Given the description of an element on the screen output the (x, y) to click on. 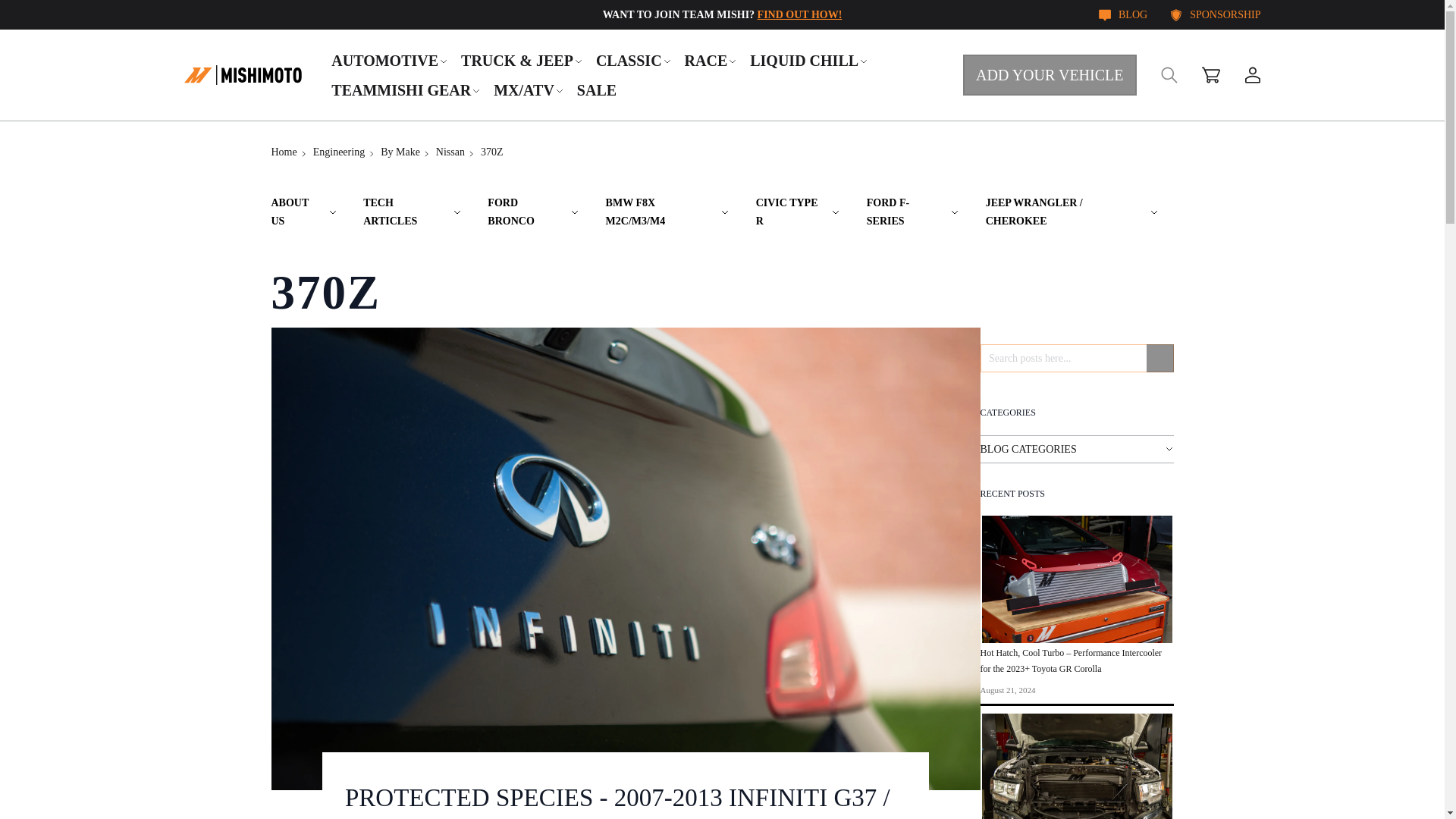
Engineering (339, 151)
AUTOMOTIVE (390, 59)
FIND OUT HOW! (800, 14)
Mishimoto (242, 74)
SPONSORSHIP (1215, 14)
Go to Home Page (283, 151)
Nissan (449, 151)
By Make (400, 151)
BLOG (1123, 14)
